Given the description of an element on the screen output the (x, y) to click on. 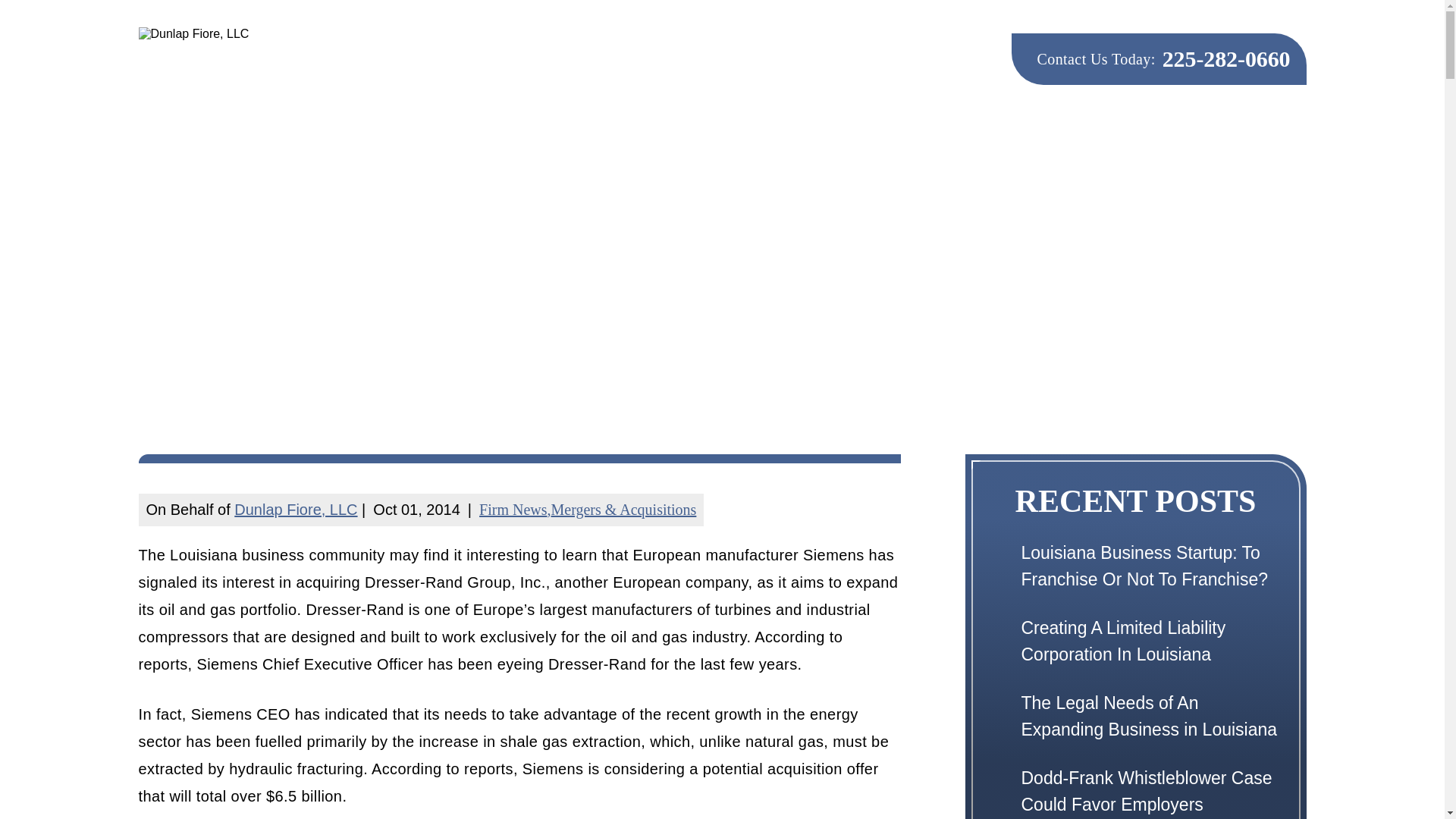
Practice Areas (882, 136)
Blog (1195, 136)
About (663, 136)
Contact (1273, 136)
225-282-0660 (1225, 58)
linkdin (906, 55)
Representative Clients (1059, 136)
Home (586, 136)
Attorneys (756, 136)
